Given the description of an element on the screen output the (x, y) to click on. 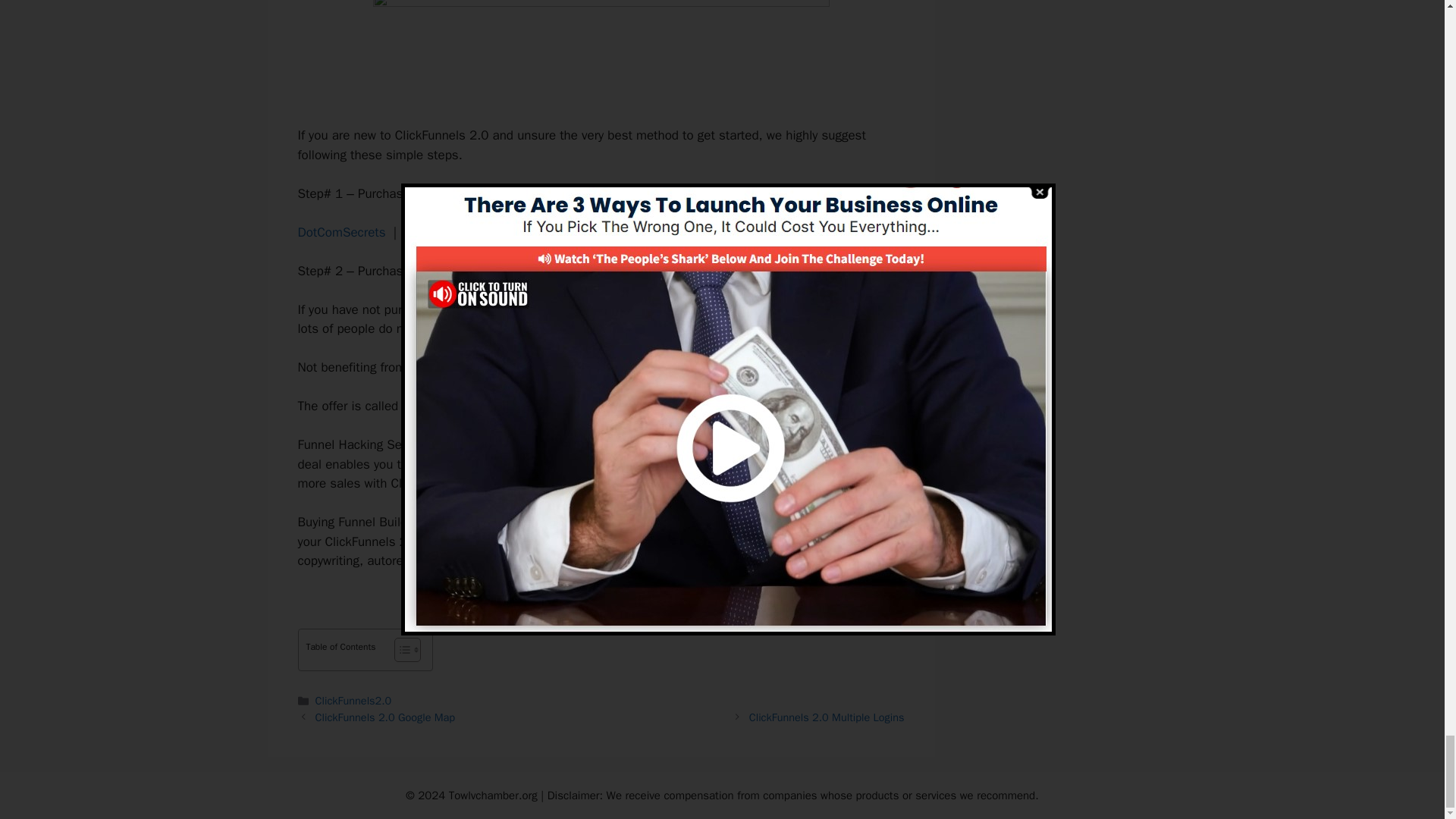
Traffic Secrets (545, 232)
Funnel Builder Secrets (464, 406)
ClickFunnels 2.0 (493, 309)
DotComSecrets (341, 232)
Expert Secrets (445, 232)
